Given the description of an element on the screen output the (x, y) to click on. 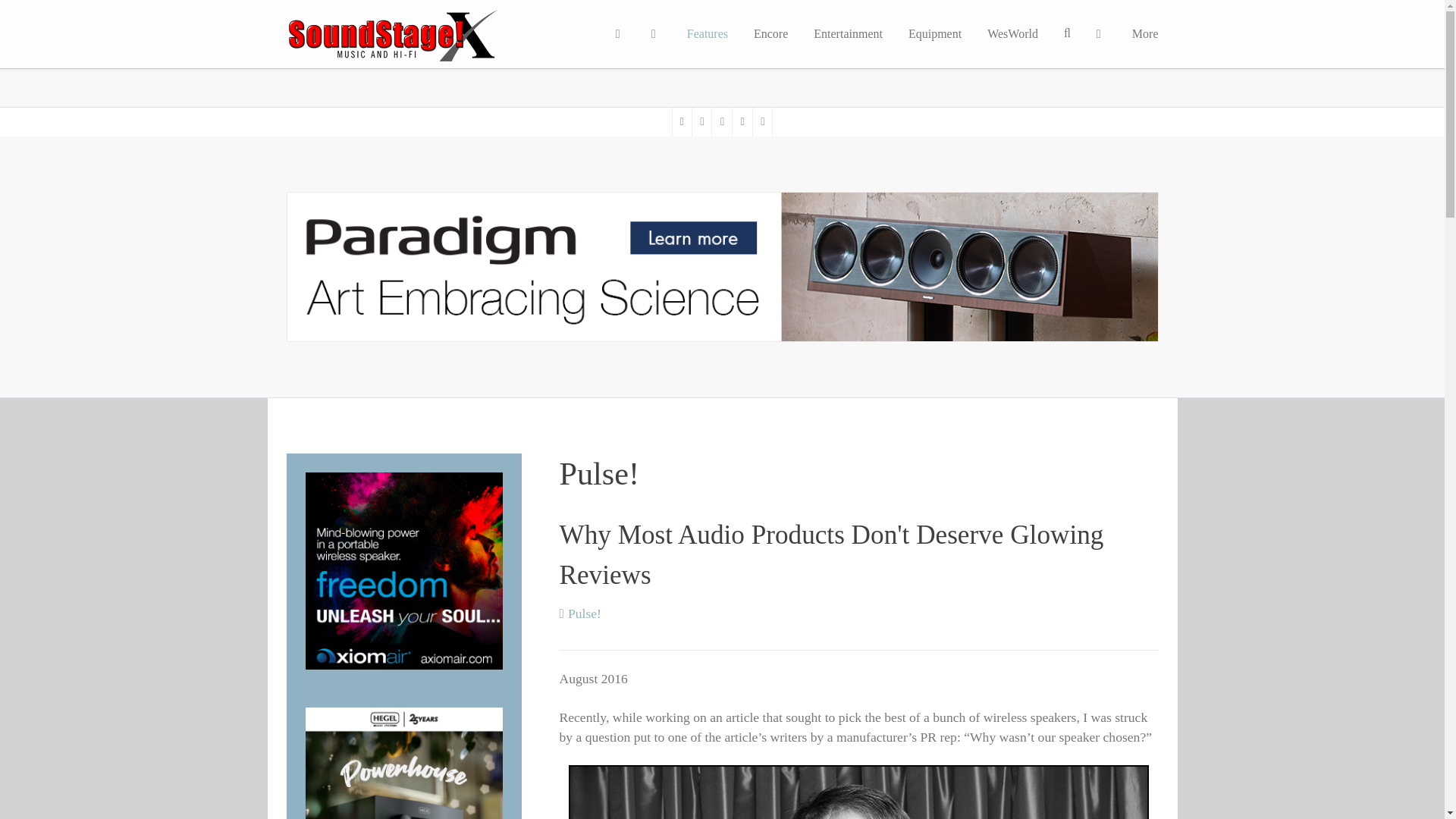
Entertainment (847, 33)
Features (707, 33)
Category:  (580, 613)
Equipment (934, 33)
SoundStage! Xperience (335, 20)
WesWorld (1012, 33)
